Given the description of an element on the screen output the (x, y) to click on. 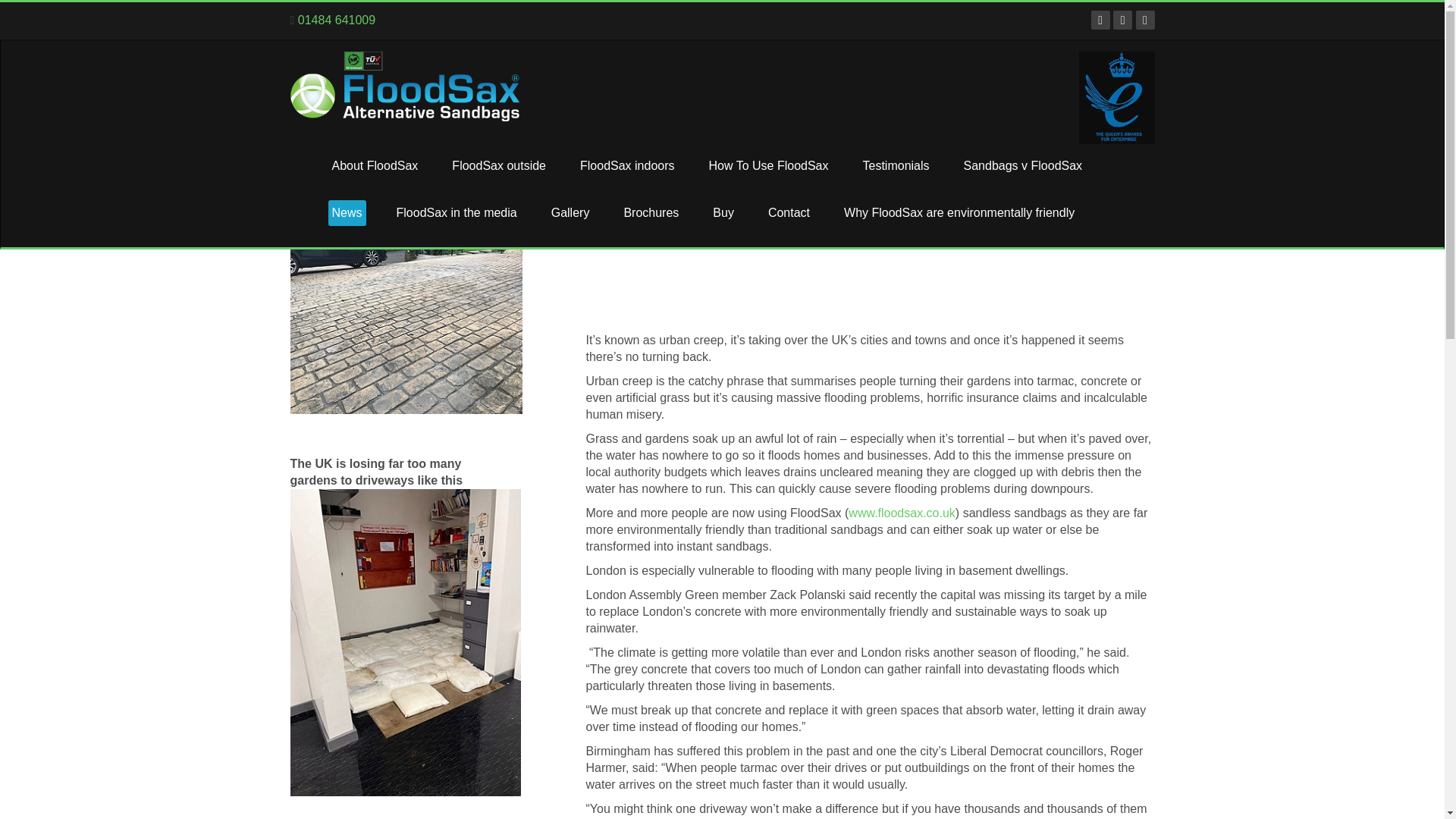
www.floodsax.co.uk (901, 512)
Contact (788, 212)
01484 641009 (336, 19)
How To Use FloodSax (768, 166)
Brochures (651, 212)
Why FloodSax are environmentally friendly (959, 212)
FloodSax in the media (457, 212)
News (346, 212)
Sandbags v FloodSax (1022, 166)
Gallery (570, 212)
Buy (723, 212)
About FloodSax (374, 166)
FloodSax indoors (627, 166)
Testimonials (896, 166)
FloodSax outside (499, 166)
